Given the description of an element on the screen output the (x, y) to click on. 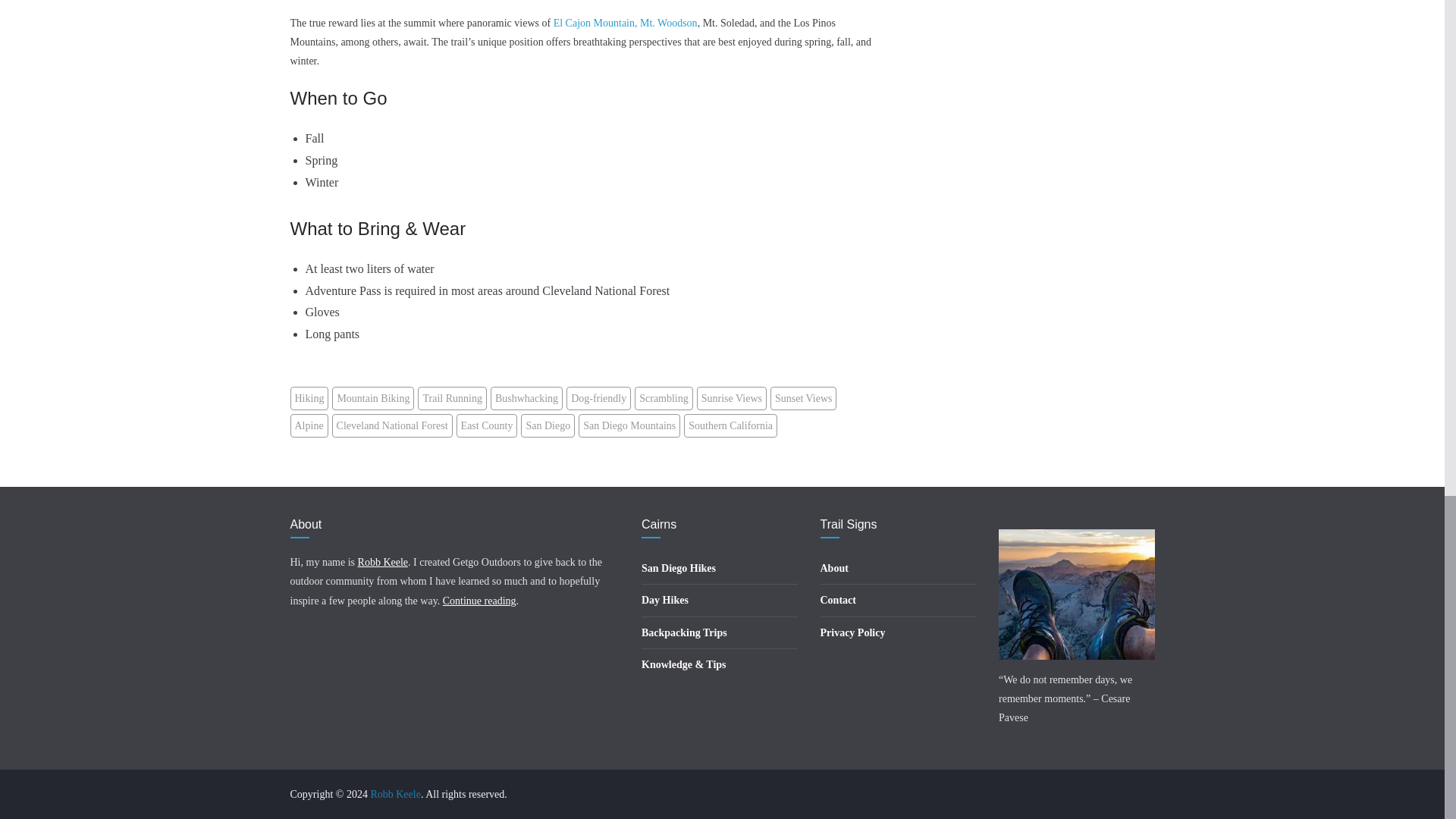
Sunset Views (803, 398)
El Cajon Mountain, (595, 22)
East County (487, 425)
Hiking (309, 398)
Cleveland National Forest (391, 425)
Scrambling (663, 398)
Mountain Biking (372, 398)
Sunrise Views (732, 398)
Trail Running (451, 398)
Dog-friendly (598, 398)
Mt. Woodson (668, 22)
Bushwhacking (526, 398)
Alpine (308, 425)
